Given the description of an element on the screen output the (x, y) to click on. 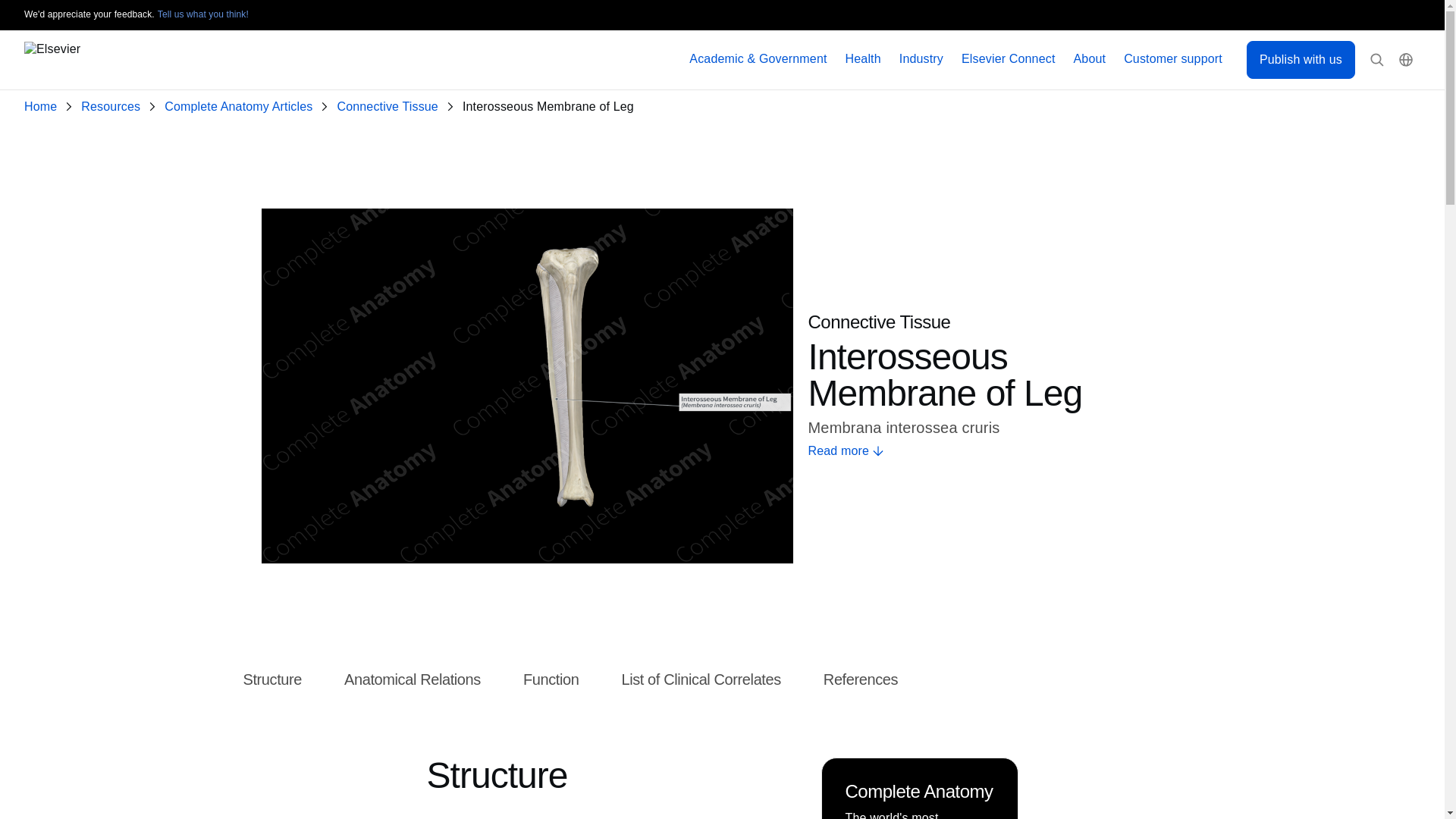
Health (862, 59)
Open Search (1376, 59)
Structure (272, 679)
Read more (995, 451)
Anatomical Relations (411, 679)
Function (550, 679)
Connective Tissue (390, 107)
Resources (114, 107)
Publish with us (1300, 59)
List of Clinical Correlates (700, 679)
Home (43, 107)
References (861, 679)
Location Selector (1406, 59)
Elsevier Connect (1007, 59)
About (1090, 59)
